Given the description of an element on the screen output the (x, y) to click on. 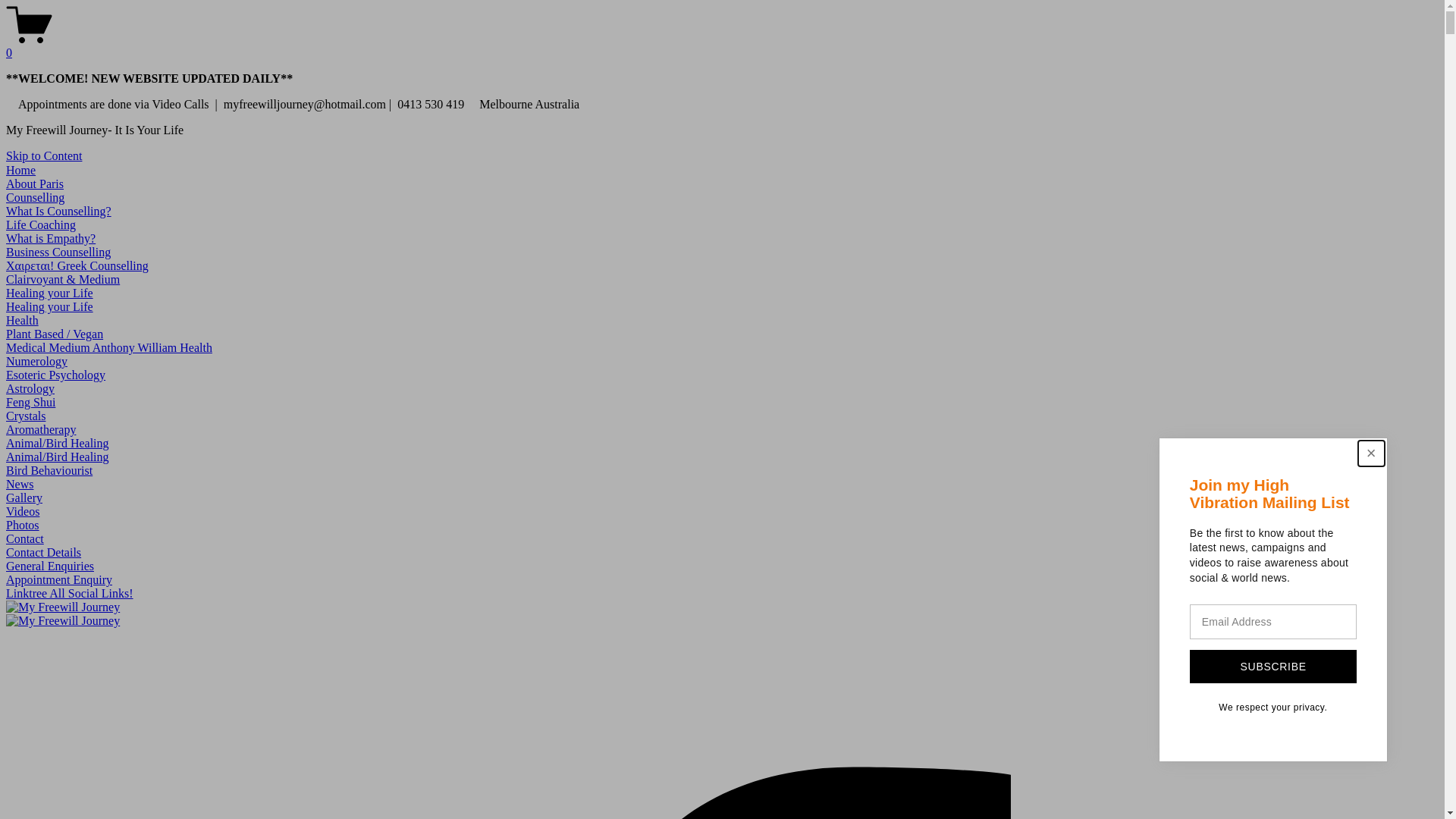
Crystals Element type: text (25, 415)
Linktree All Social Links! Element type: text (69, 592)
Feng Shui Element type: text (30, 401)
Animal/Bird Healing Element type: text (57, 442)
Skip to Content Element type: text (43, 155)
Contact Details Element type: text (43, 552)
Videos Element type: text (22, 511)
Health Element type: text (22, 319)
What is Empathy? Element type: text (50, 238)
Life Coaching Element type: text (40, 224)
Contact Element type: text (24, 538)
Aromatherapy Element type: text (40, 429)
Healing your Life Element type: text (49, 292)
Esoteric Psychology Element type: text (55, 374)
Clairvoyant & Medium Element type: text (62, 279)
About Paris Element type: text (34, 183)
Animal/Bird Healing Element type: text (57, 456)
Bird Behaviourist Element type: text (49, 470)
Astrology Element type: text (30, 388)
General Enquiries Element type: text (50, 565)
0 Element type: text (722, 45)
Plant Based / Vegan Element type: text (54, 333)
What Is Counselling? Element type: text (58, 210)
Medical Medium Anthony William Health Element type: text (109, 347)
Numerology Element type: text (36, 360)
Photos Element type: text (22, 524)
Healing your Life Element type: text (49, 306)
Business Counselling Element type: text (58, 251)
Gallery Element type: text (24, 497)
News Element type: text (19, 483)
Appointment Enquiry Element type: text (59, 579)
Counselling Element type: text (35, 197)
Home Element type: text (20, 169)
